Given the description of an element on the screen output the (x, y) to click on. 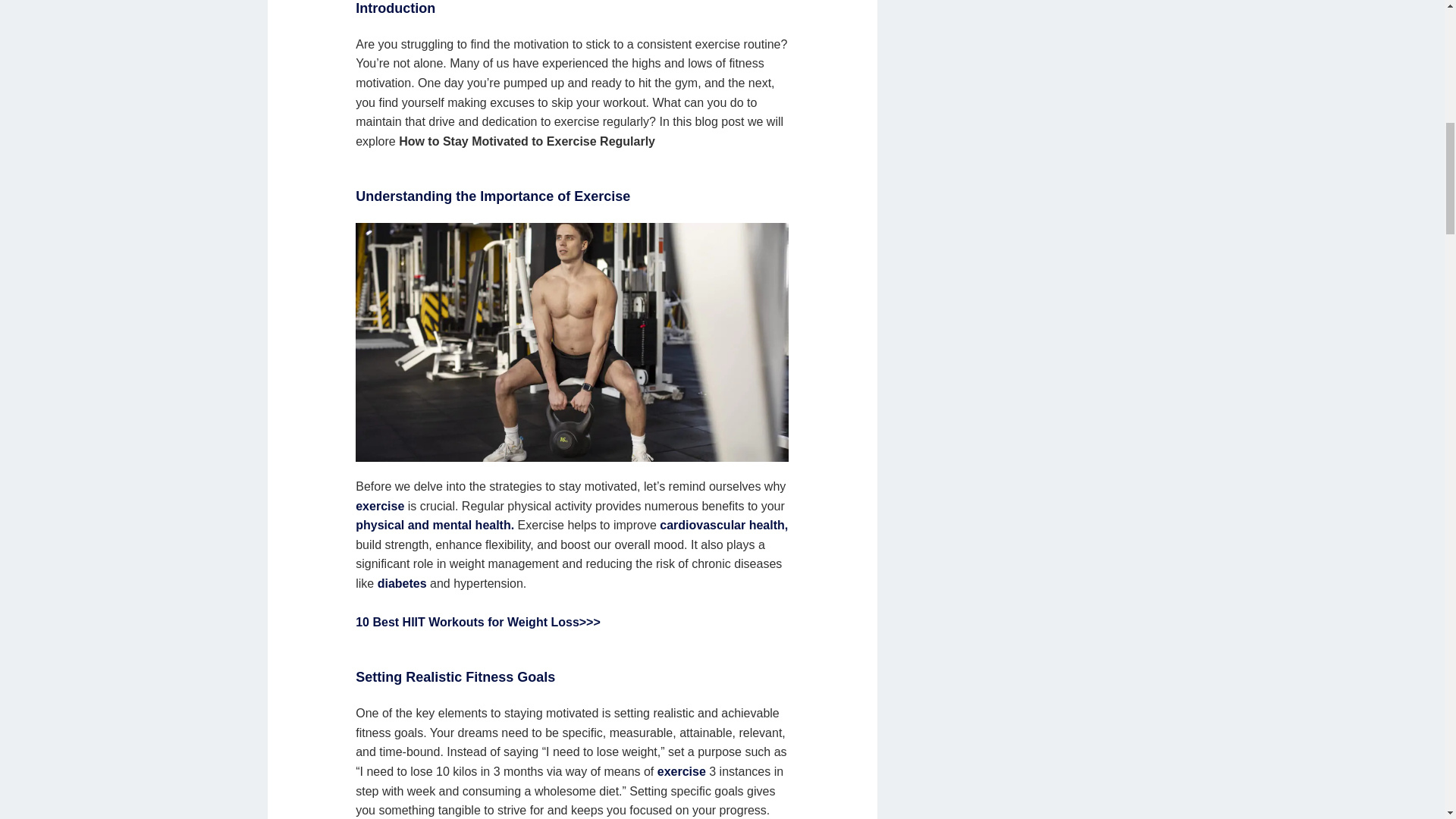
exercise (379, 505)
physical and mental health. (434, 524)
